Given the description of an element on the screen output the (x, y) to click on. 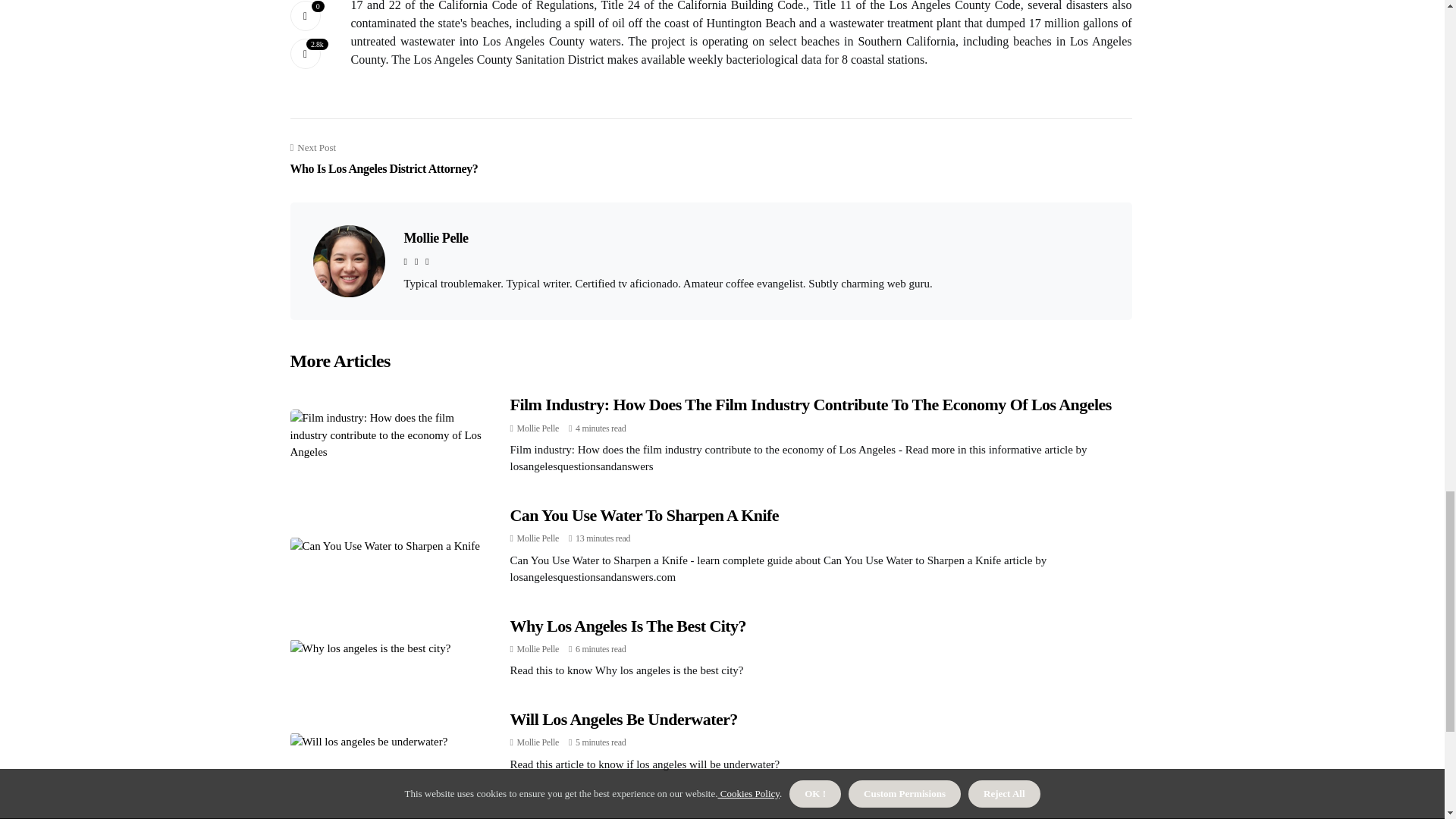
Will Los Angeles Be Underwater? (622, 719)
Why Los Angeles Is The Best City? (627, 625)
Posts by Mollie Pelle (537, 648)
Posts by Mollie Pelle (537, 742)
Mollie Pelle (537, 648)
Posts by Mollie Pelle (537, 428)
Posts by Mollie Pelle (537, 538)
Can You Use Water To Sharpen A Knife (643, 515)
Mollie Pelle (537, 538)
